Given the description of an element on the screen output the (x, y) to click on. 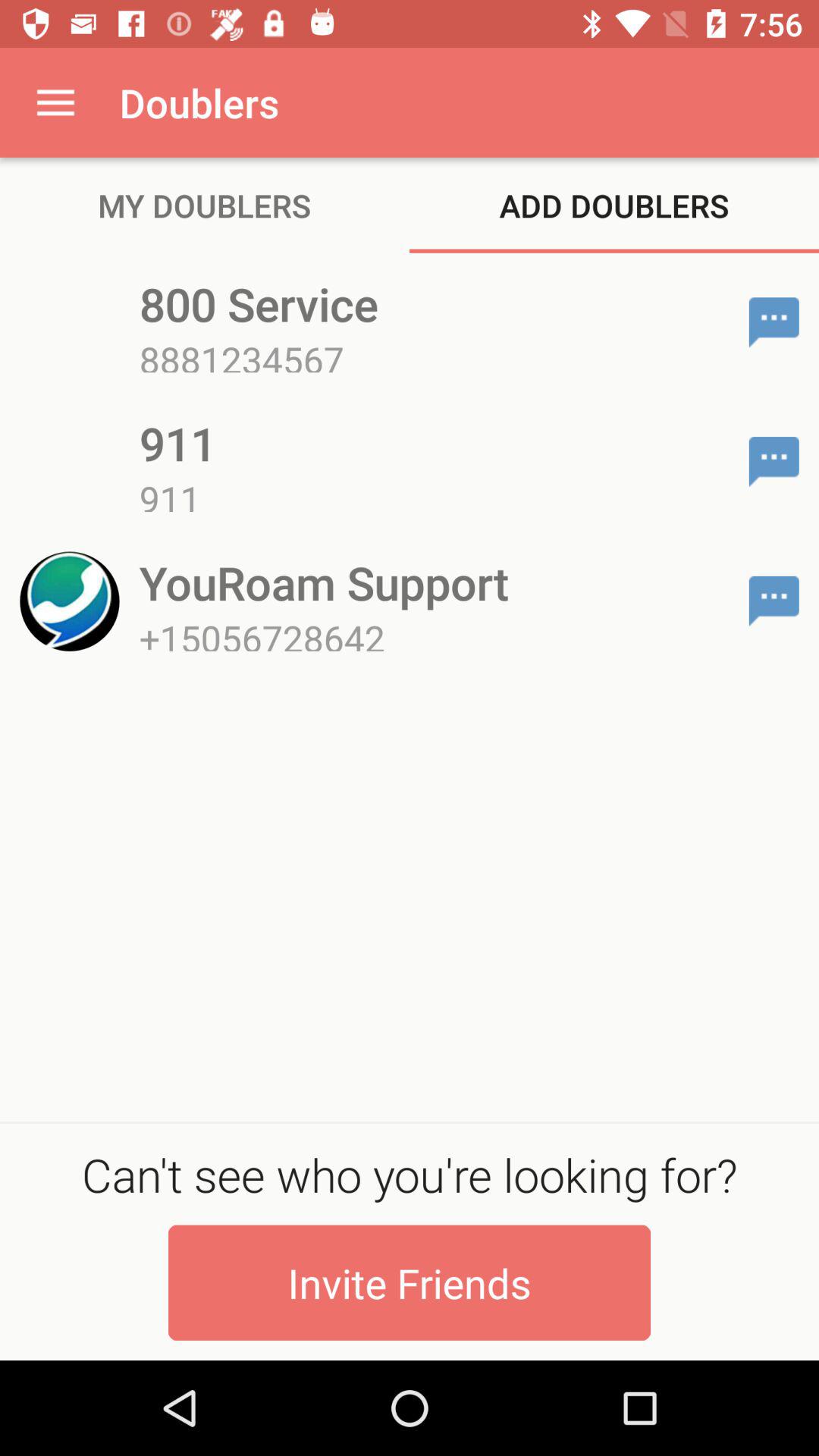
go to options (774, 461)
